Given the description of an element on the screen output the (x, y) to click on. 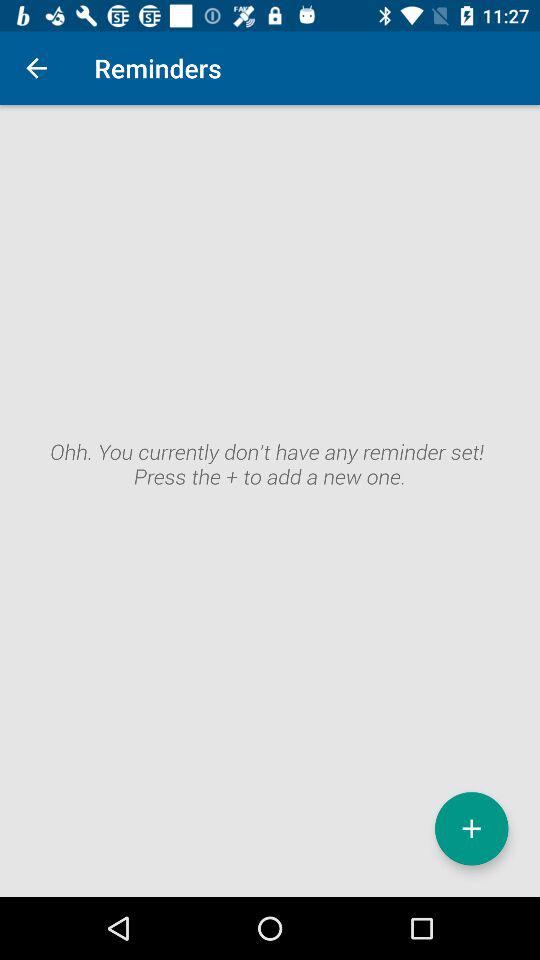
turn off icon at the bottom right corner (471, 828)
